Given the description of an element on the screen output the (x, y) to click on. 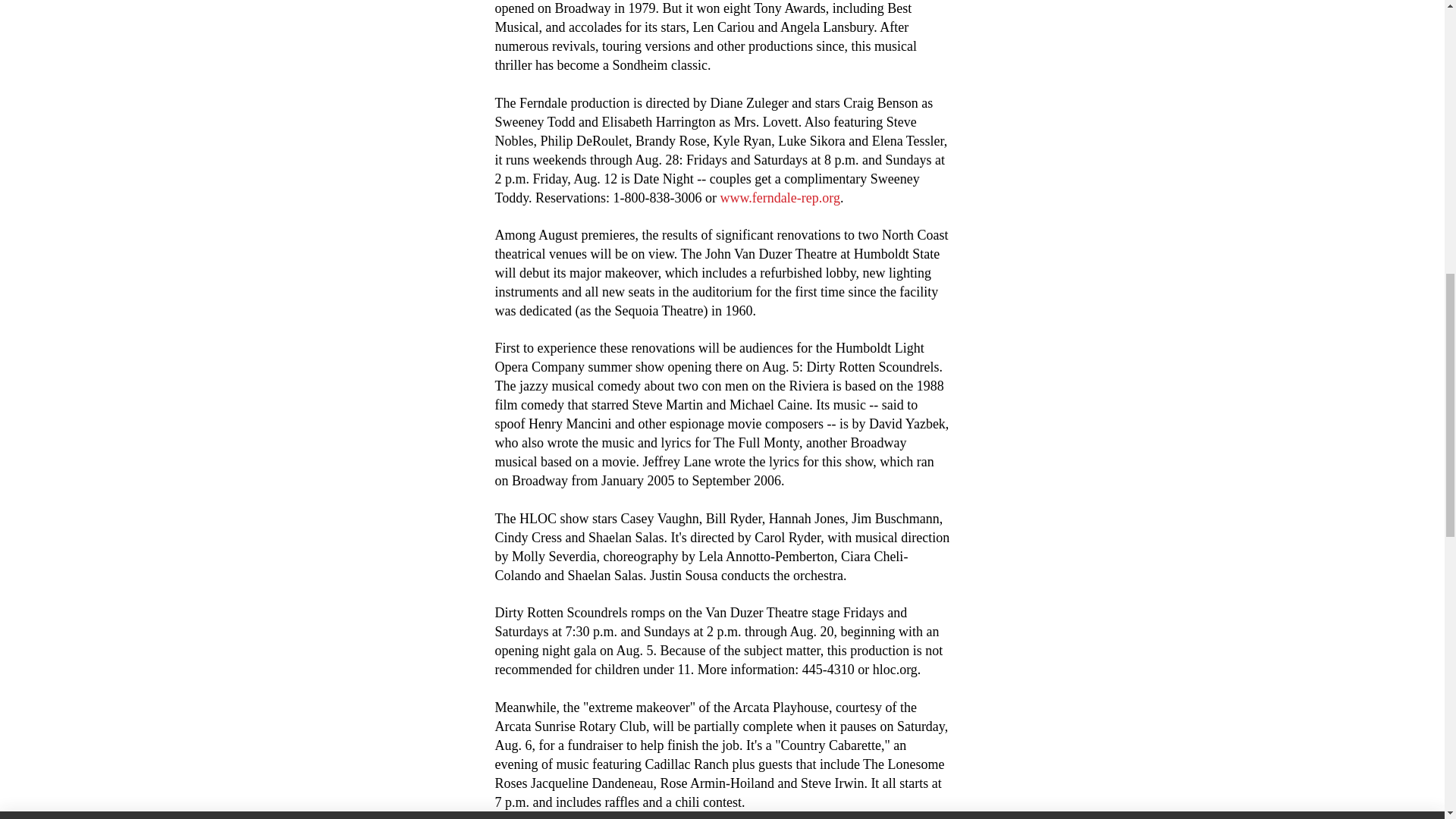
www.ferndale-rep.org (780, 197)
